Given the description of an element on the screen output the (x, y) to click on. 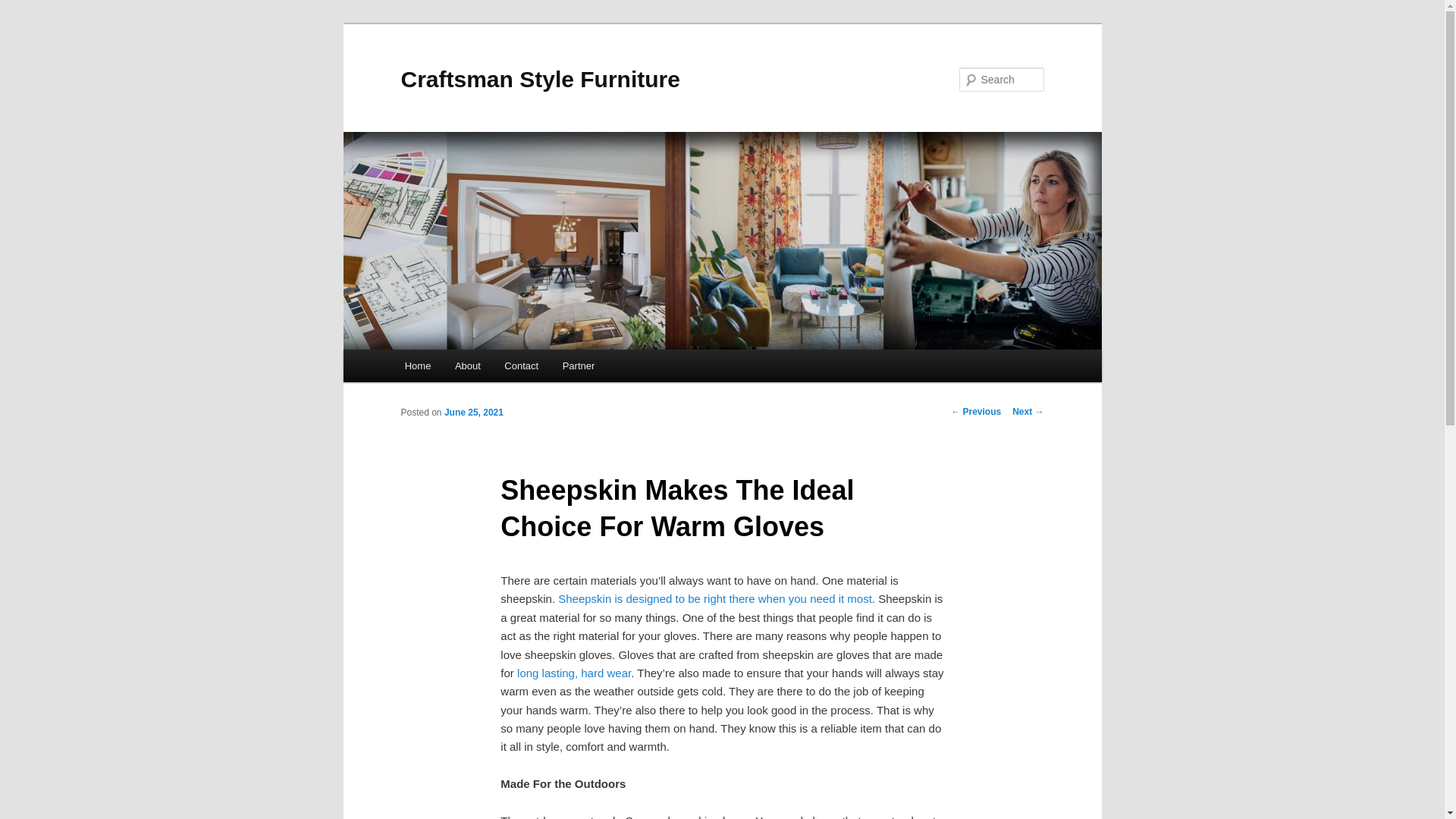
Craftsman Style Furniture (539, 78)
About (467, 365)
Contact (521, 365)
Home (417, 365)
2:22 pm (473, 412)
Search (24, 8)
June 25, 2021 (473, 412)
Partner (578, 365)
long lasting, hard wear (573, 672)
